Given the description of an element on the screen output the (x, y) to click on. 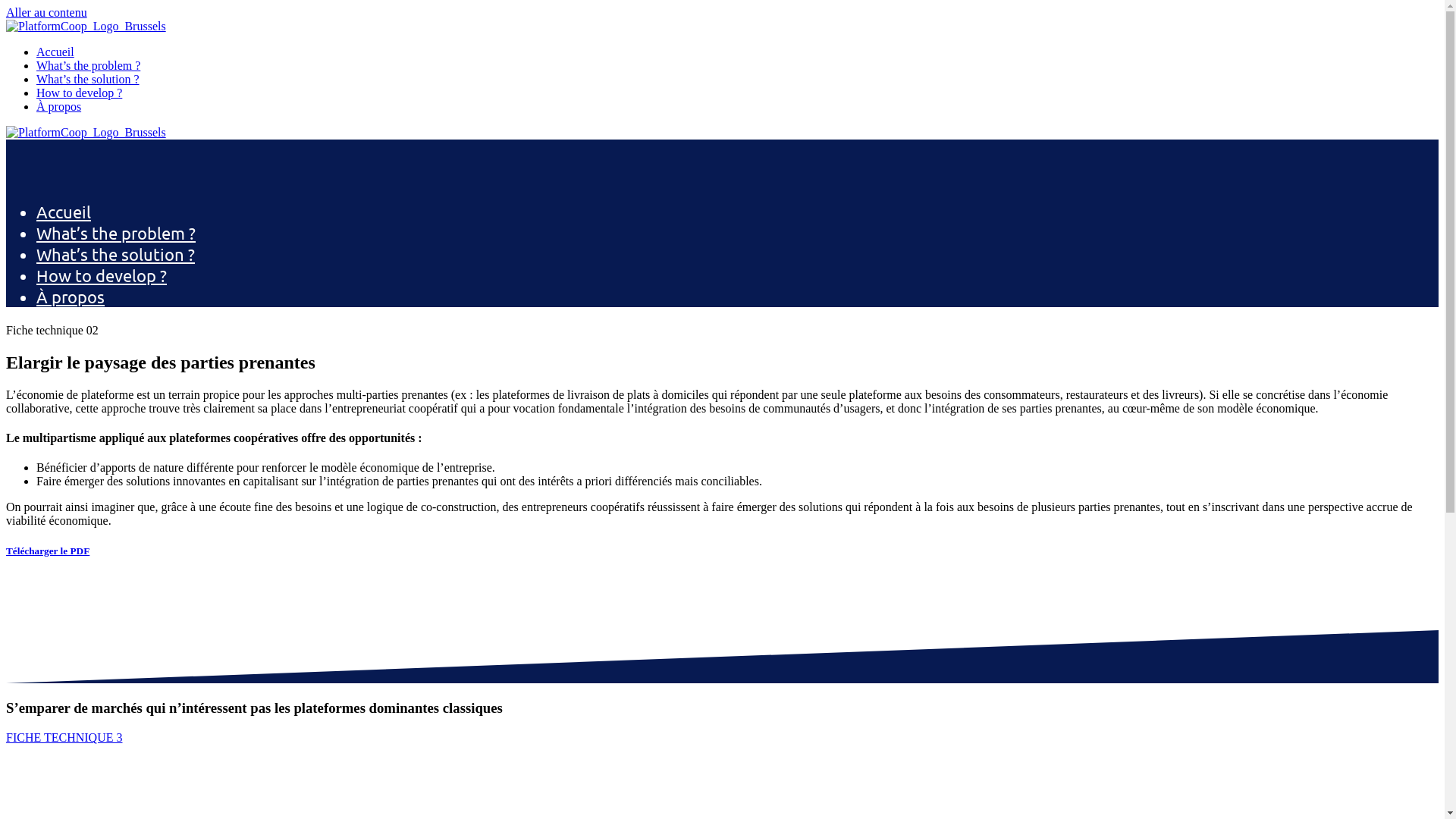
Accueil Element type: text (55, 51)
Accueil Element type: text (63, 211)
How to develop ? Element type: text (79, 92)
PlatformCoop_Logo_Brussels Element type: hover (86, 26)
FICHE TECHNIQUE 3 Element type: text (64, 737)
PlatformCoop_Logo_Brussels Element type: hover (86, 132)
Aller au contenu Element type: text (46, 12)
How to develop ? Element type: text (101, 274)
